Given the description of an element on the screen output the (x, y) to click on. 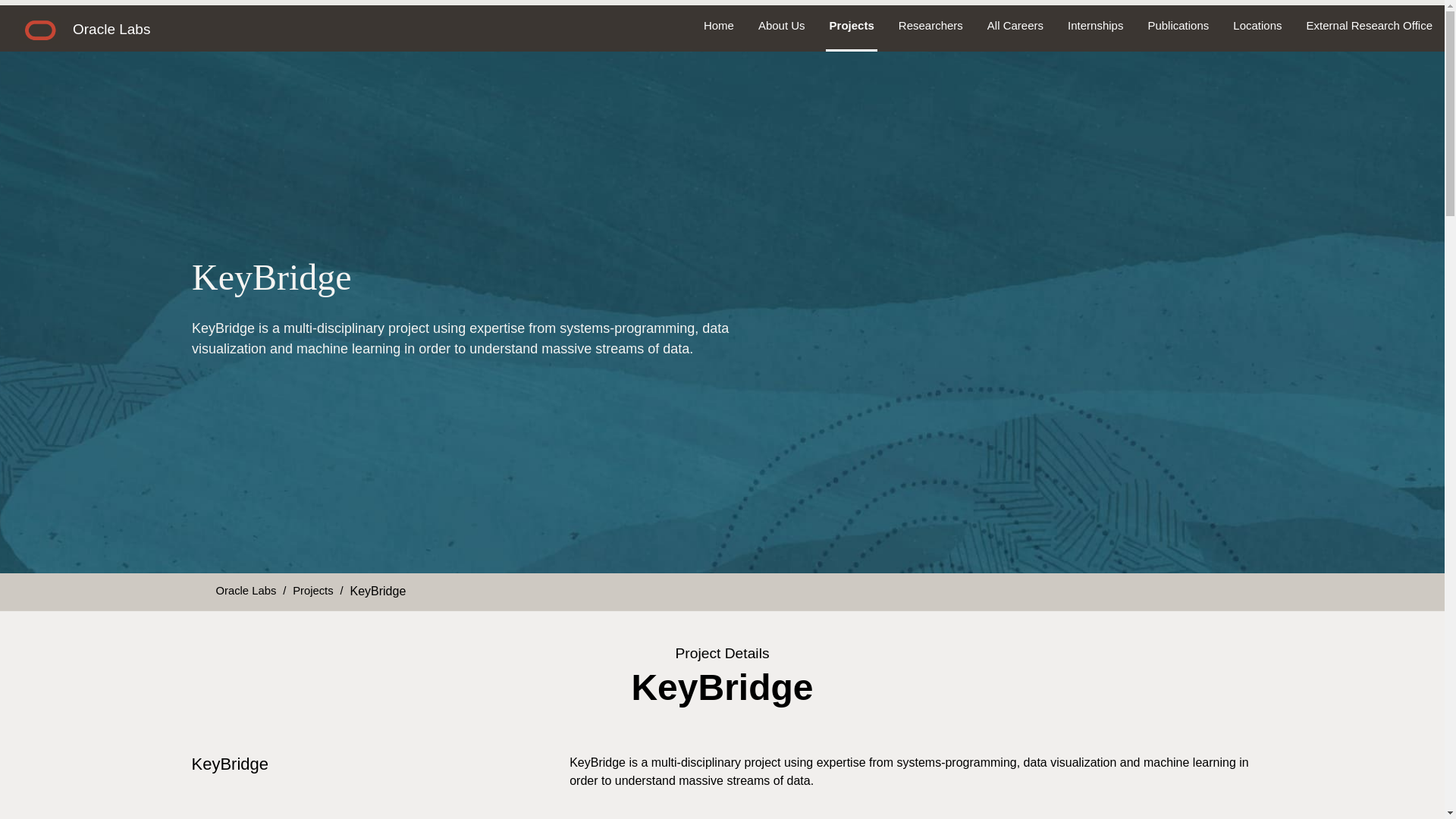
Researchers (930, 25)
Locations (1257, 25)
Projects (851, 25)
Internships (1095, 25)
Home (718, 25)
Oracle Labs (245, 590)
KeyBridge (377, 591)
All Careers (1015, 25)
About Us (780, 25)
Oracle Labs (111, 29)
Publications (1178, 25)
Projects (312, 590)
